Given the description of an element on the screen output the (x, y) to click on. 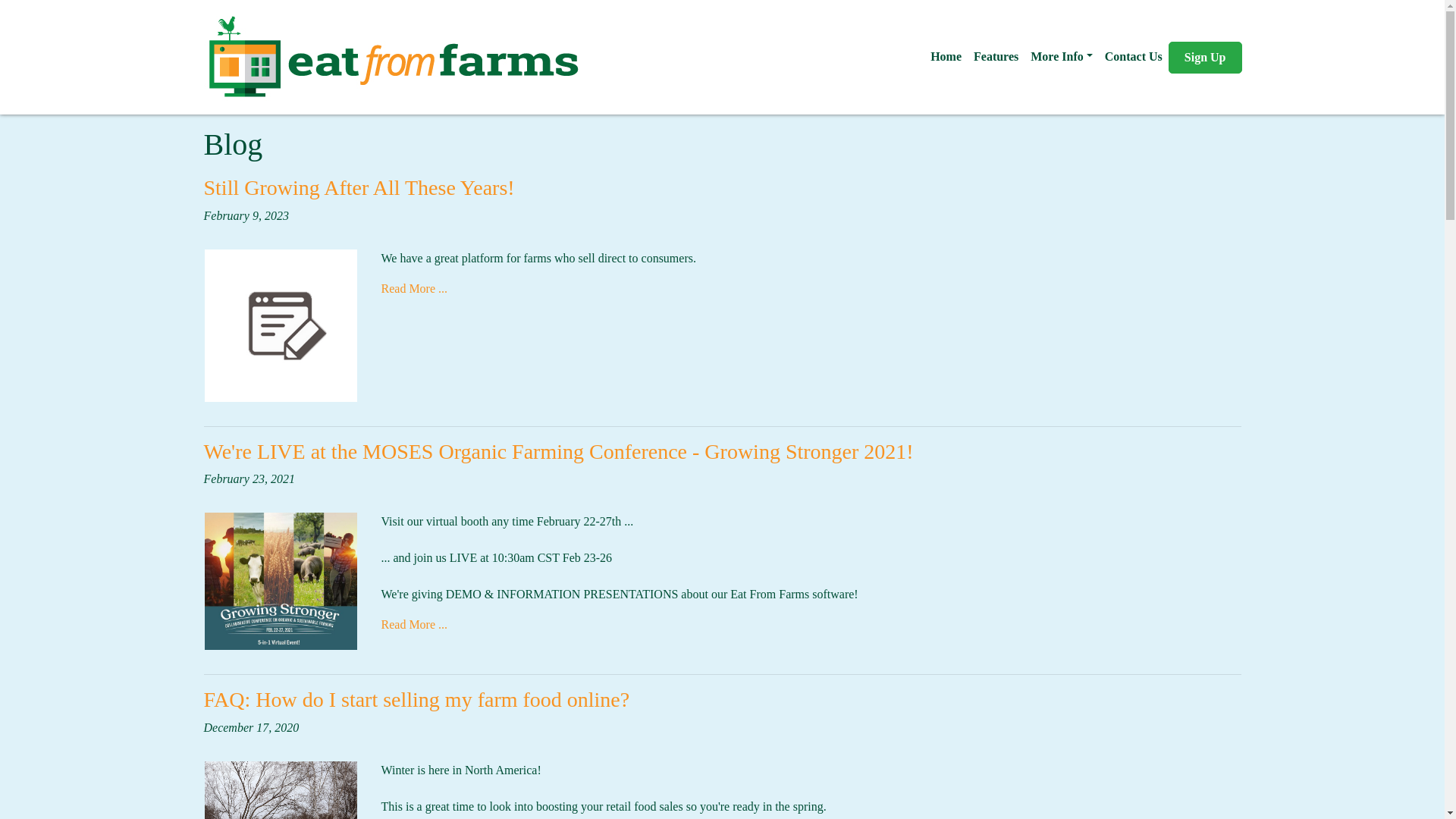
Sign Up (1205, 56)
FAQ: How do I start selling my farm food online? (415, 699)
Still Growing After All These Years! (358, 187)
Contact Us (1134, 55)
Home (946, 55)
More Info (1062, 55)
Read More ... (413, 624)
Features (996, 55)
Read More ... (413, 287)
